Given the description of an element on the screen output the (x, y) to click on. 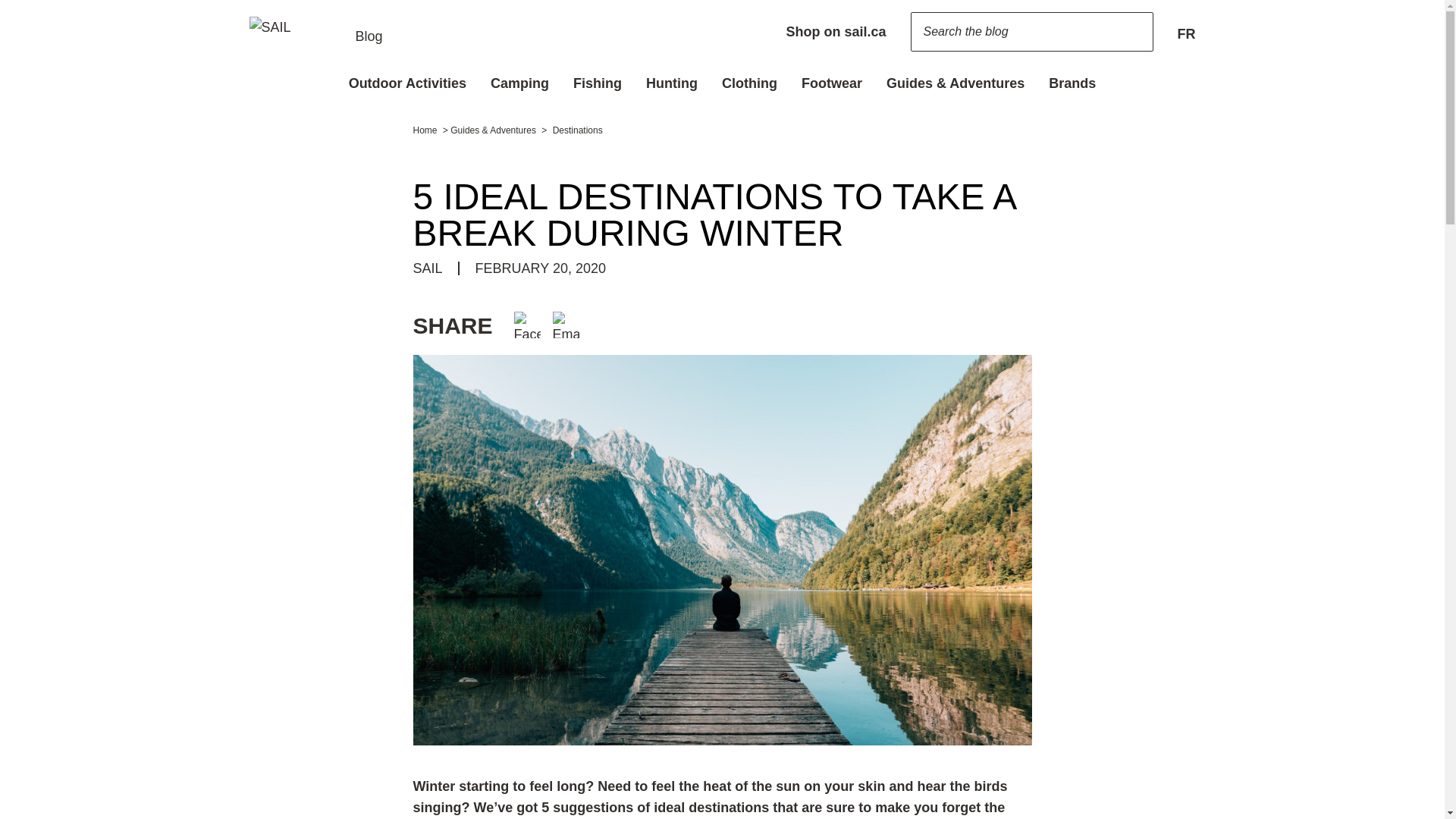
Camping (519, 81)
Outdoor Activities (407, 81)
FR (1185, 31)
Fishing (596, 81)
Blog (314, 31)
Facebook (526, 324)
Email (566, 324)
Shop on sail.ca (835, 31)
